Given the description of an element on the screen output the (x, y) to click on. 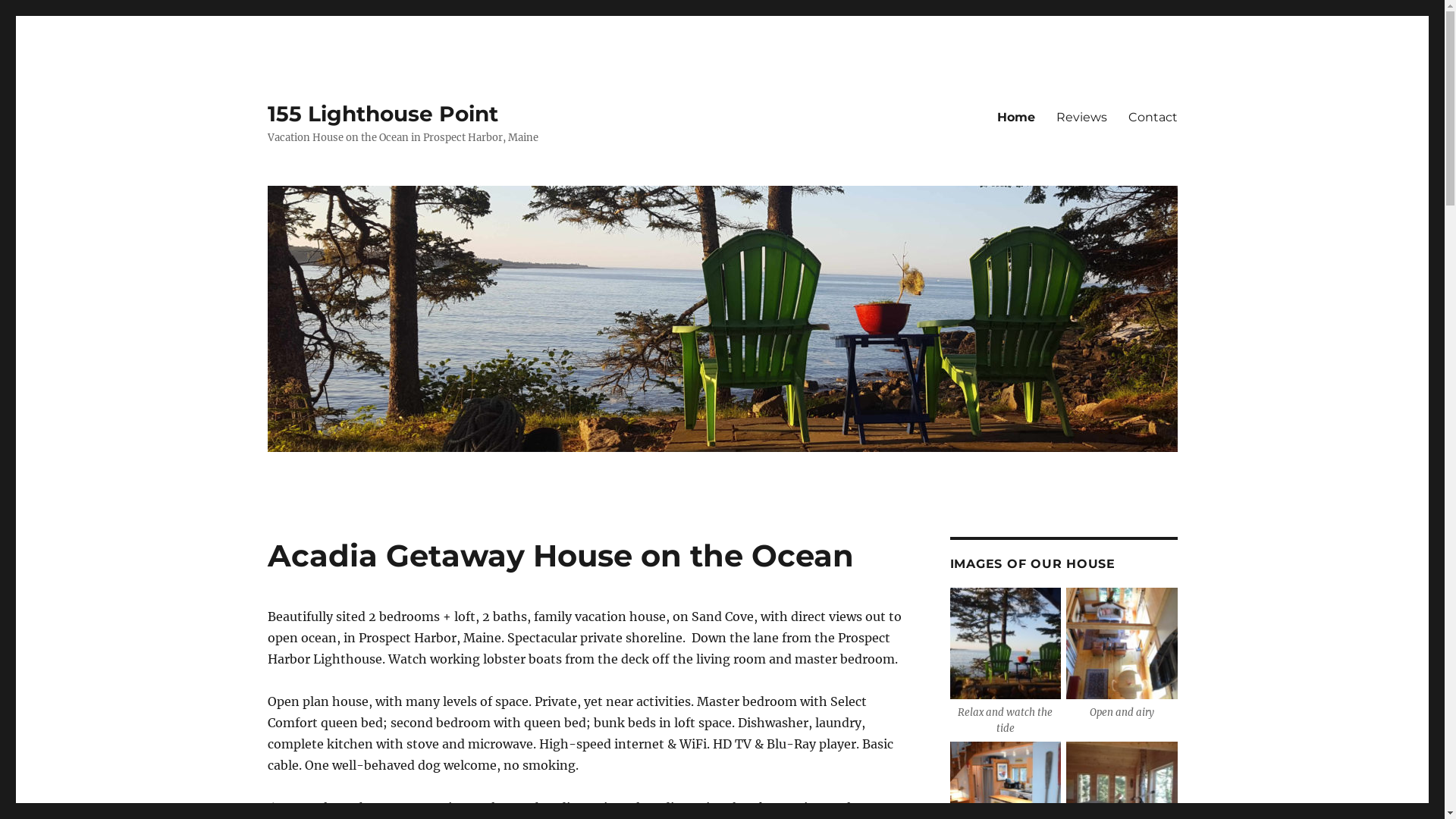
Home Element type: text (1014, 116)
155 Lighthouse Point Element type: text (381, 113)
Contact Element type: text (1152, 116)
Reviews Element type: text (1080, 116)
